Given the description of an element on the screen output the (x, y) to click on. 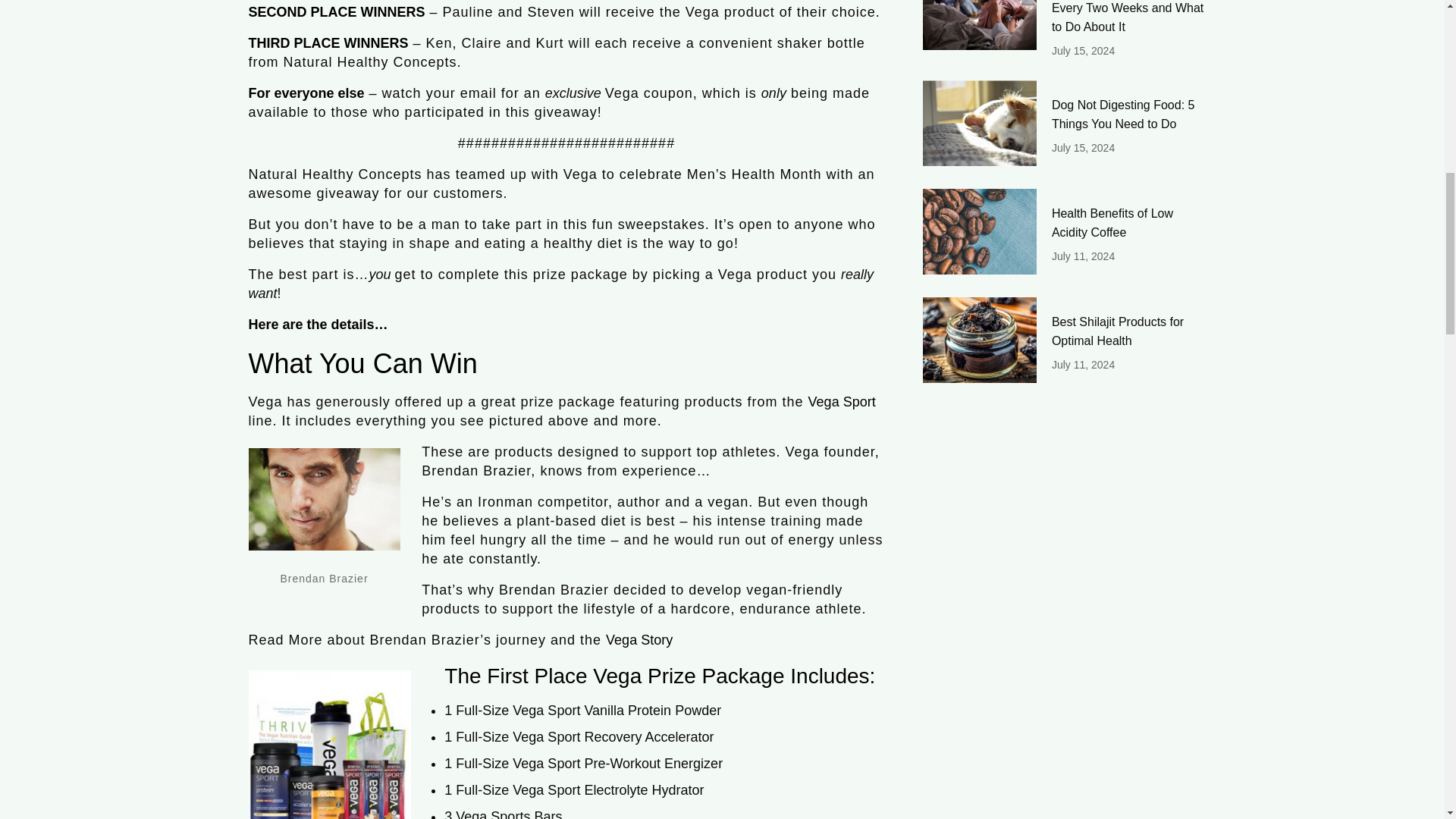
Vega Sport (842, 401)
Vega Story (638, 639)
